Given the description of an element on the screen output the (x, y) to click on. 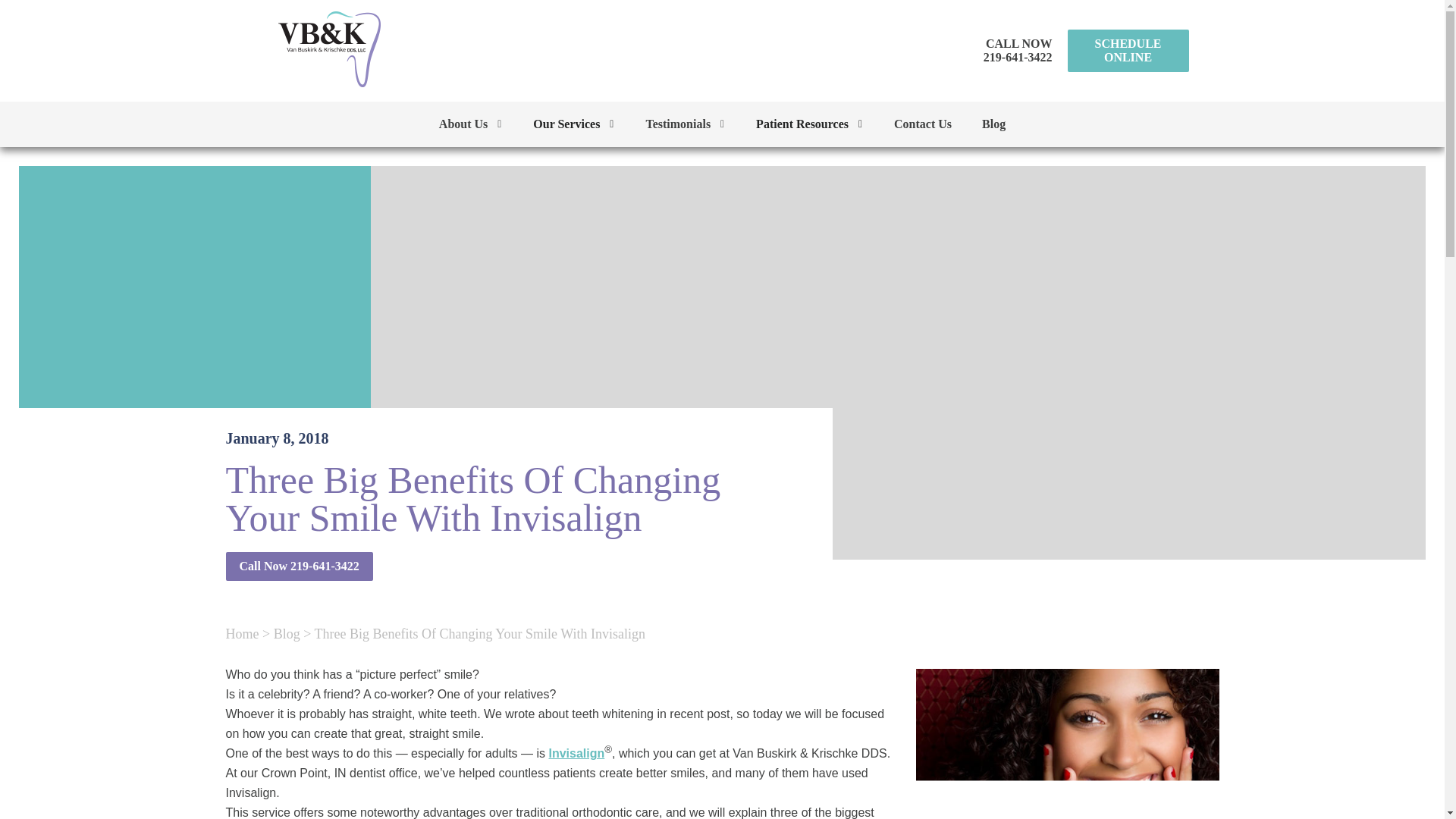
SCHEDULE ONLINE (1128, 50)
About Us (470, 124)
